Given the description of an element on the screen output the (x, y) to click on. 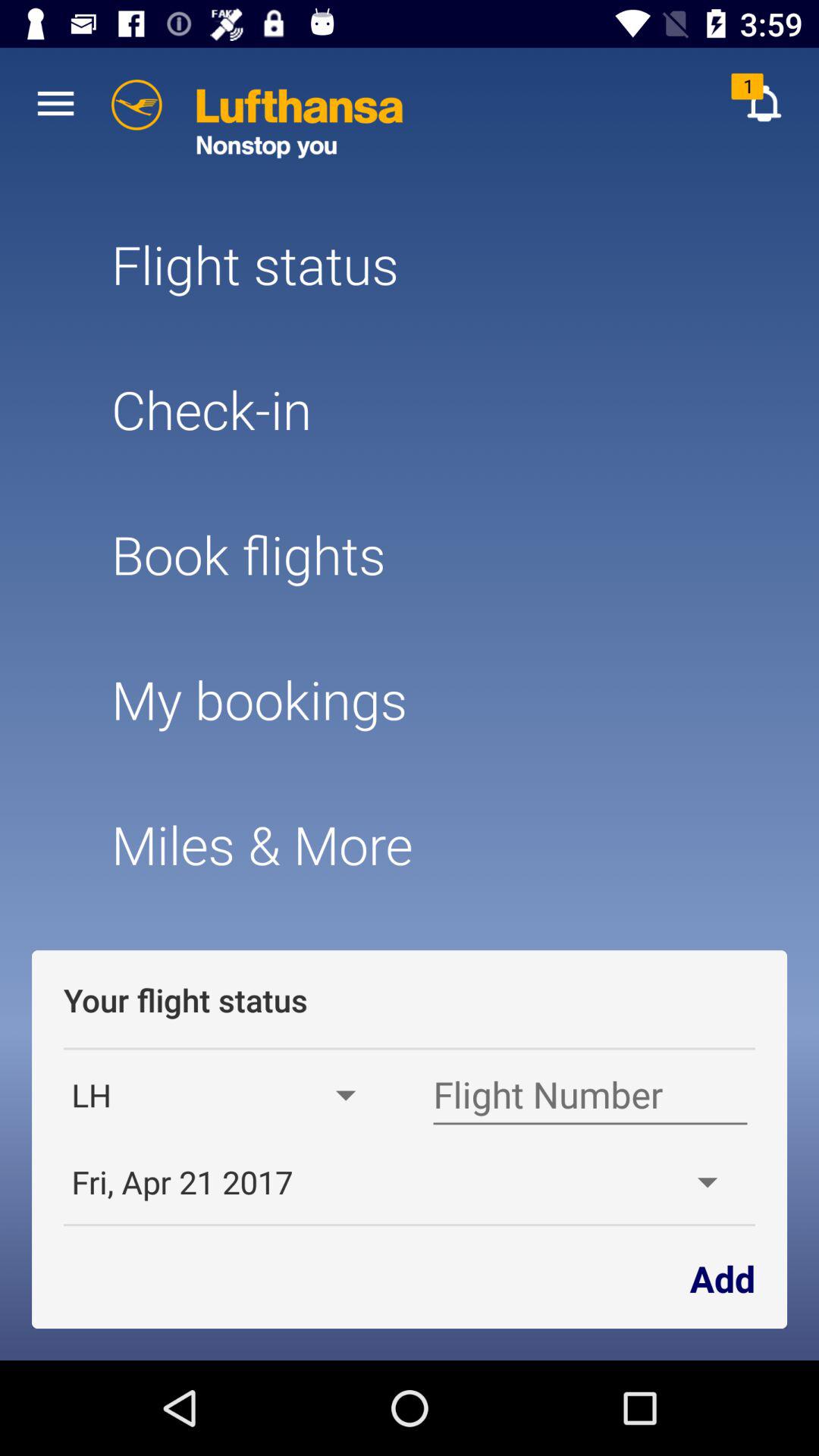
enter flight number (590, 1094)
